Given the description of an element on the screen output the (x, y) to click on. 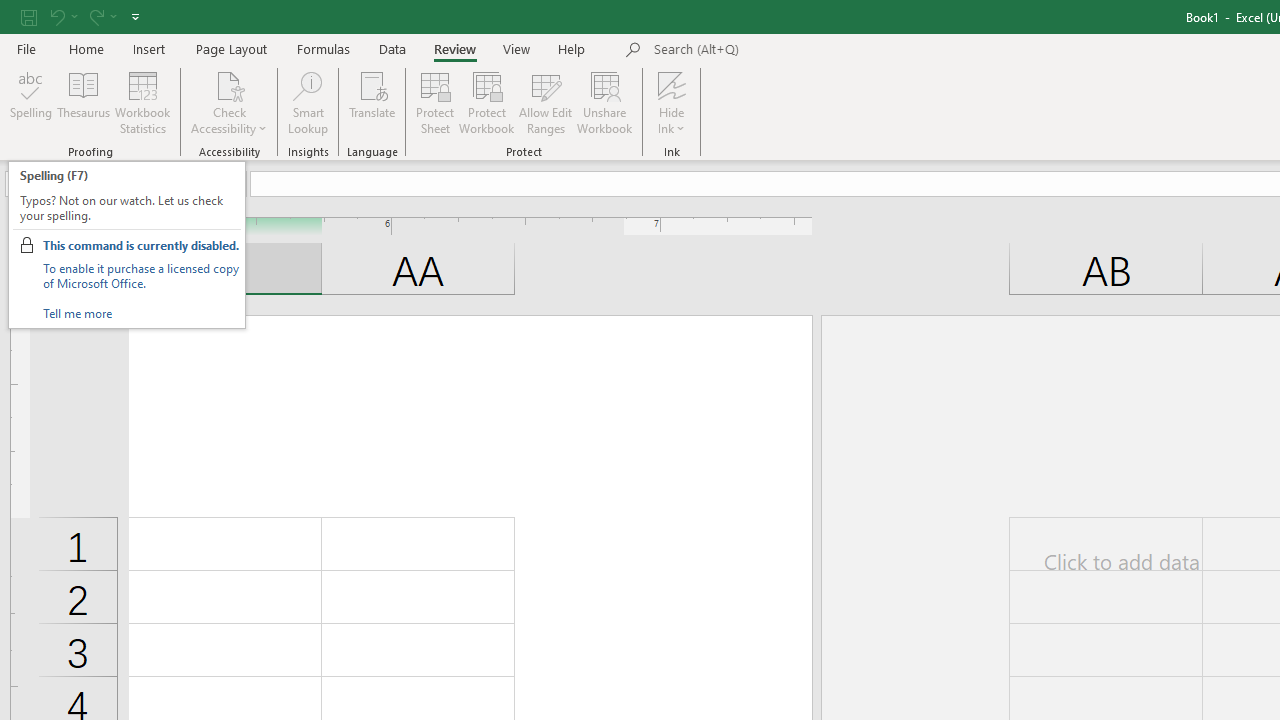
This command is currently disabled. (140, 245)
Smart Lookup (308, 102)
Unshare Workbook (604, 102)
Spelling... (31, 102)
